Given the description of an element on the screen output the (x, y) to click on. 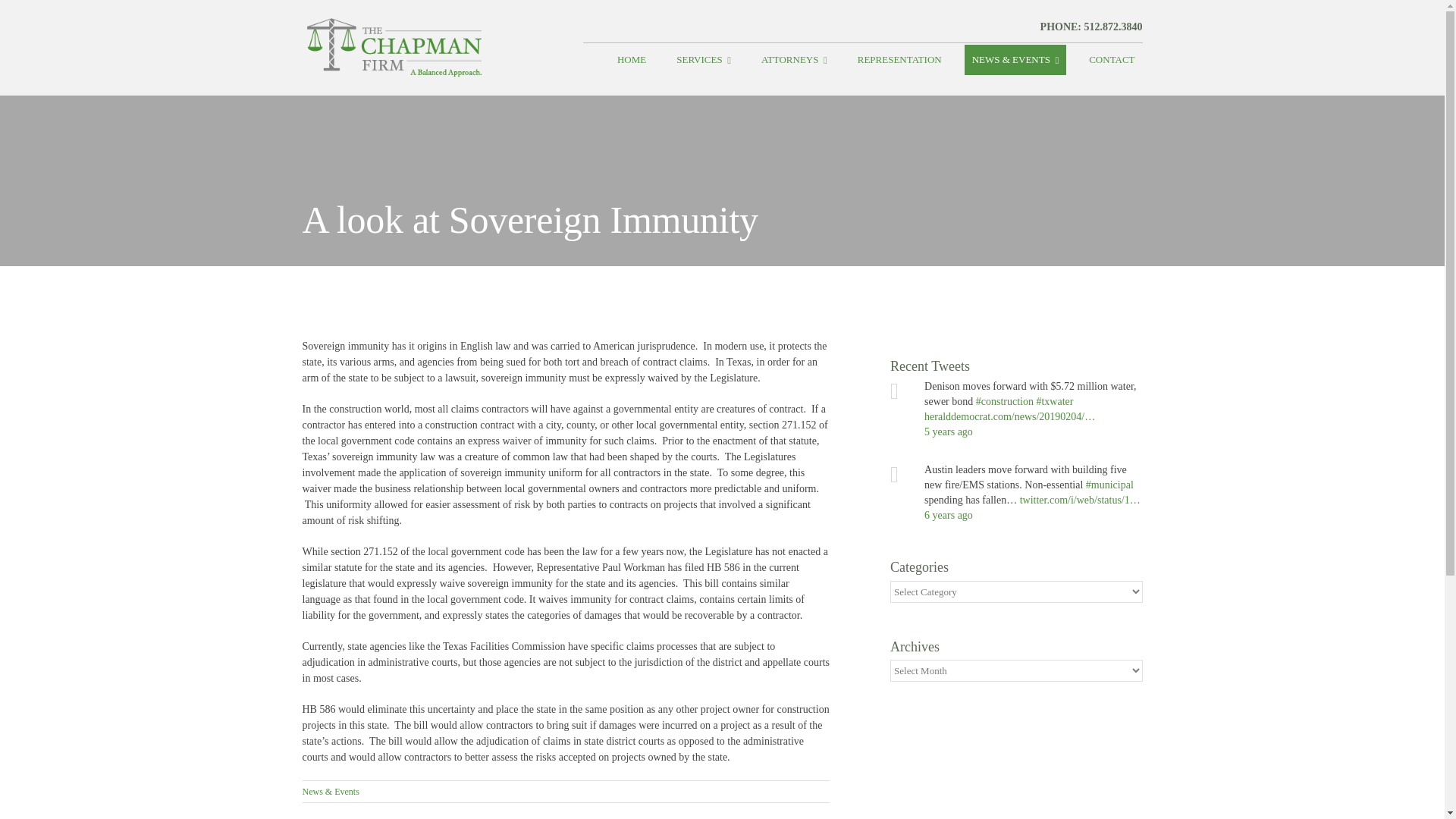
ATTORNEYS (794, 60)
5 years ago (948, 431)
SERVICES (703, 60)
REPRESENTATION (899, 60)
CONTACT (1111, 60)
HOME (631, 60)
